Given the description of an element on the screen output the (x, y) to click on. 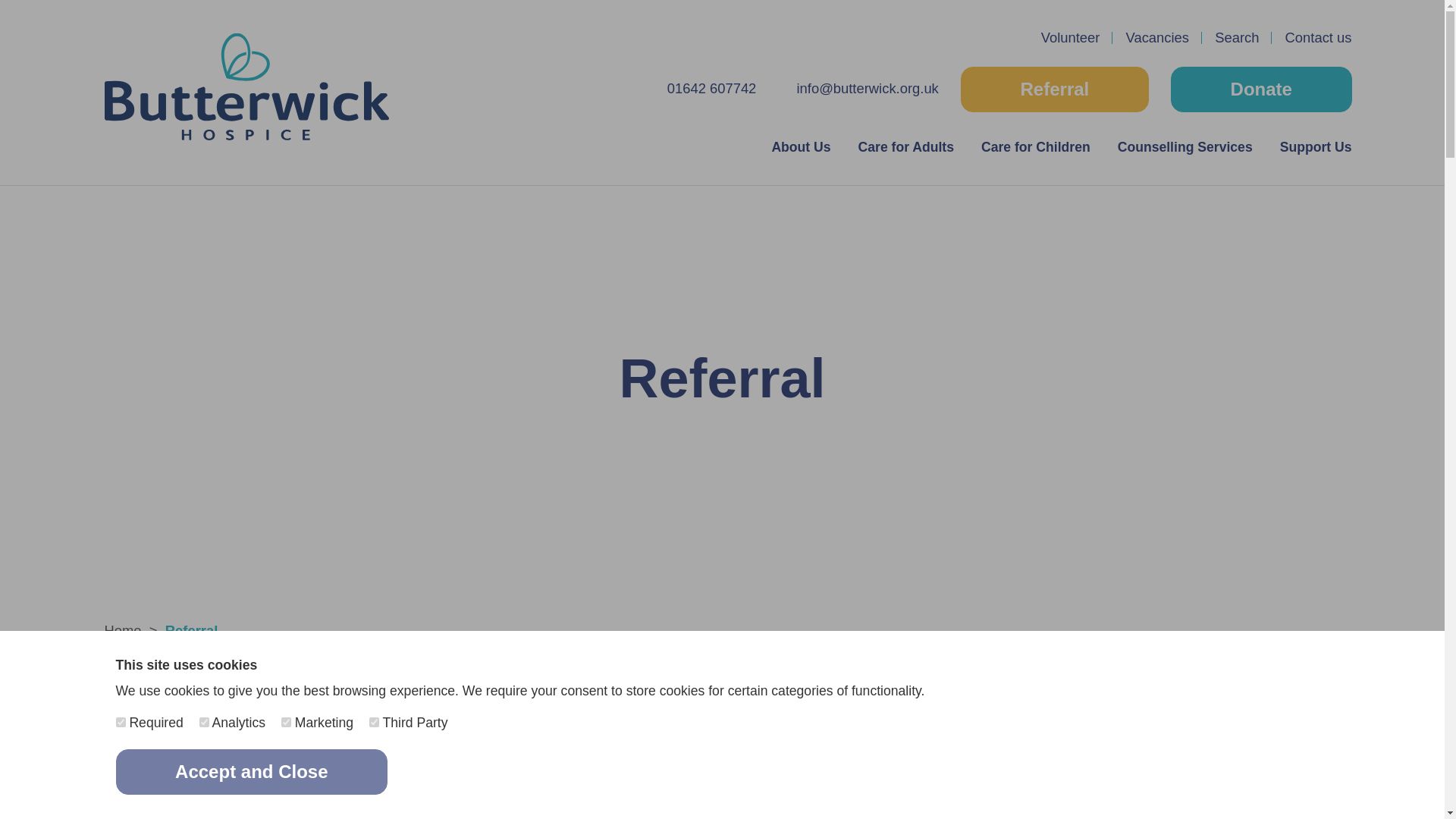
on (373, 722)
01642 607742 (711, 88)
Support Us (1315, 146)
Call Butterwick Hospice (711, 88)
Donate (1261, 89)
Referral (1054, 89)
Counselling Services (1185, 146)
Donate (1261, 89)
Care for Adults (906, 146)
About Us (800, 146)
